Given the description of an element on the screen output the (x, y) to click on. 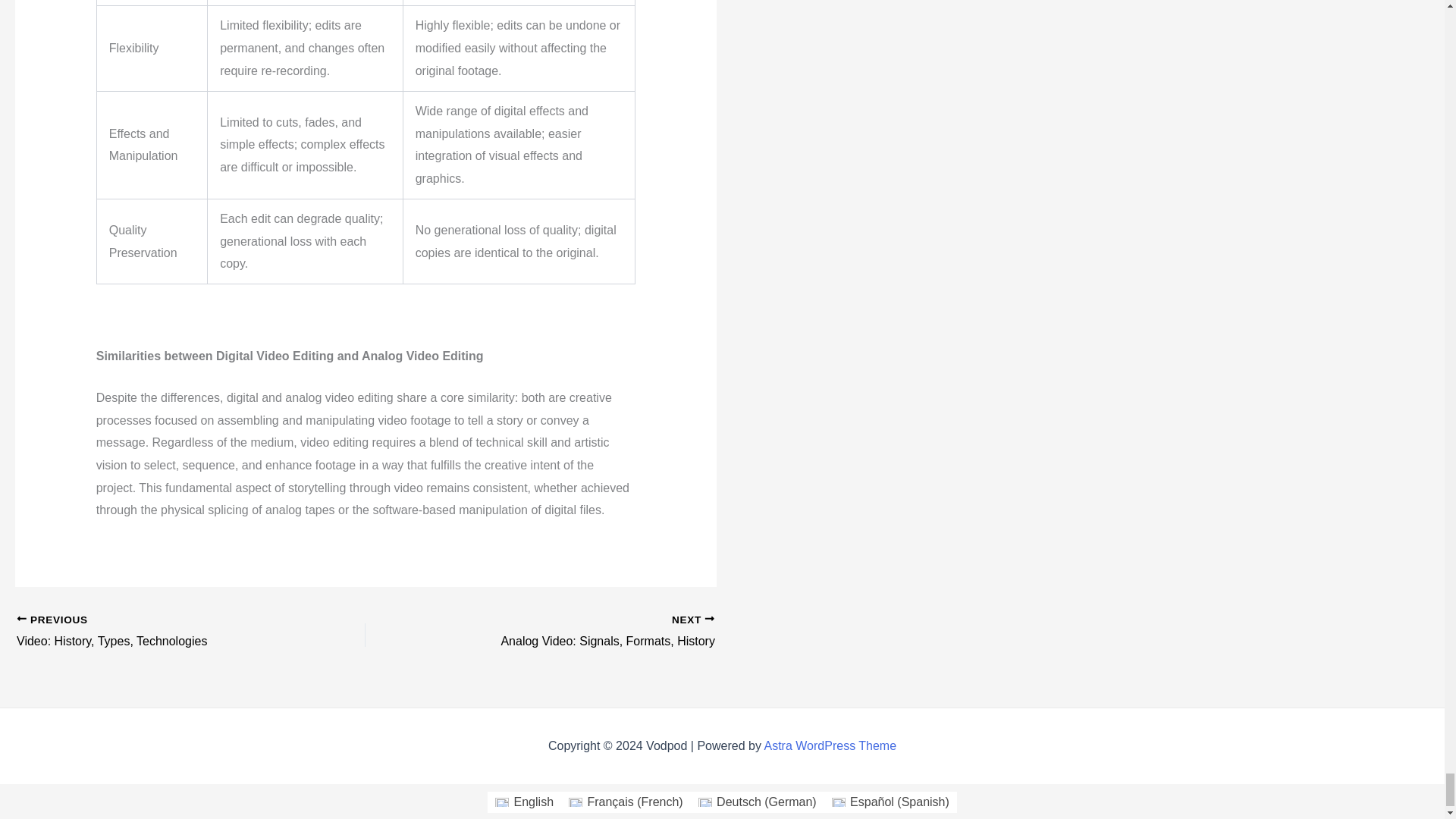
Astra WordPress Theme (573, 631)
Video: History, Types, Technologies (830, 745)
English (156, 631)
Analog Video: Signals, Formats, History (156, 631)
